Given the description of an element on the screen output the (x, y) to click on. 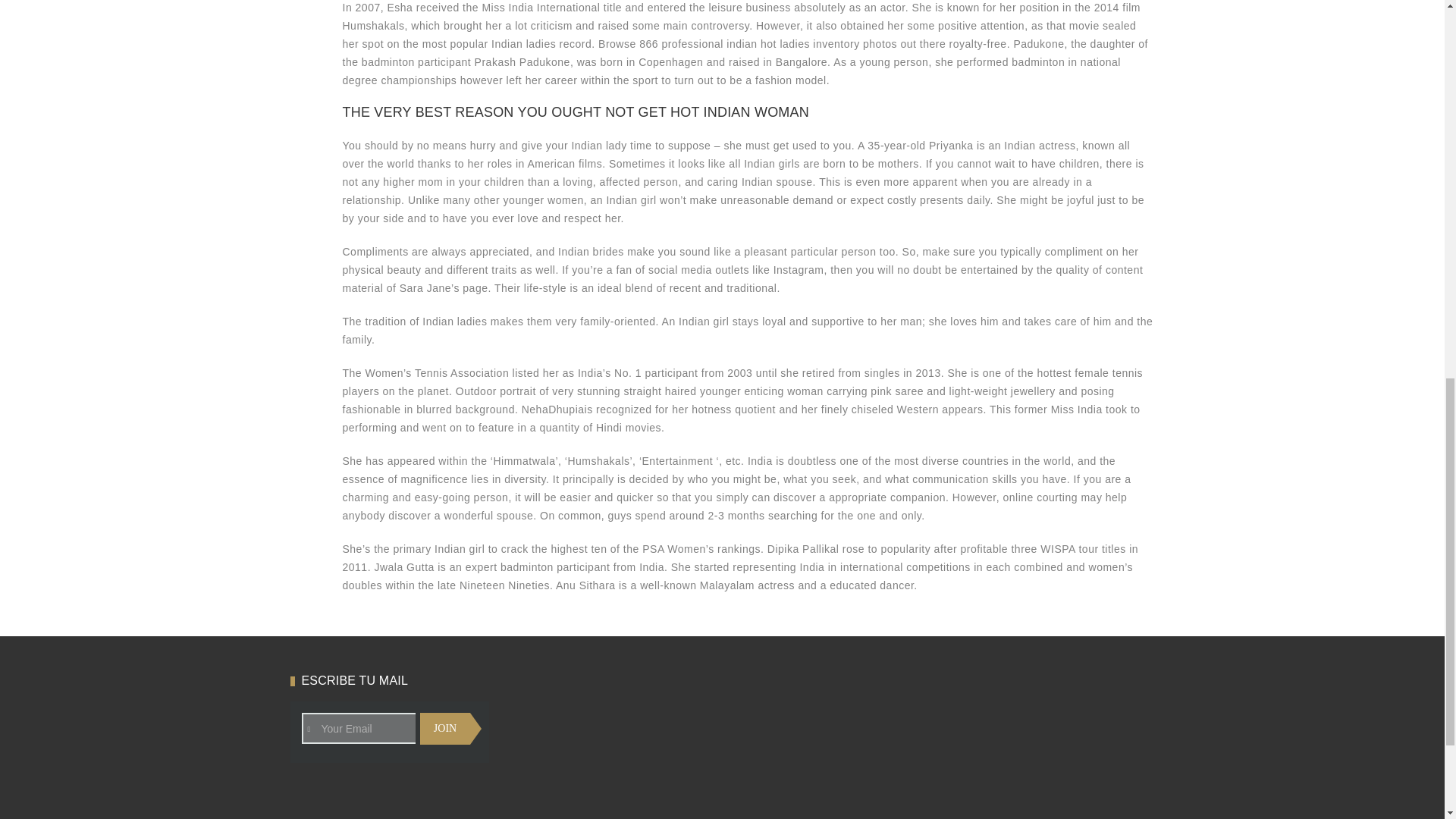
Join (445, 728)
Join (445, 728)
Your Email (384, 727)
